Given the description of an element on the screen output the (x, y) to click on. 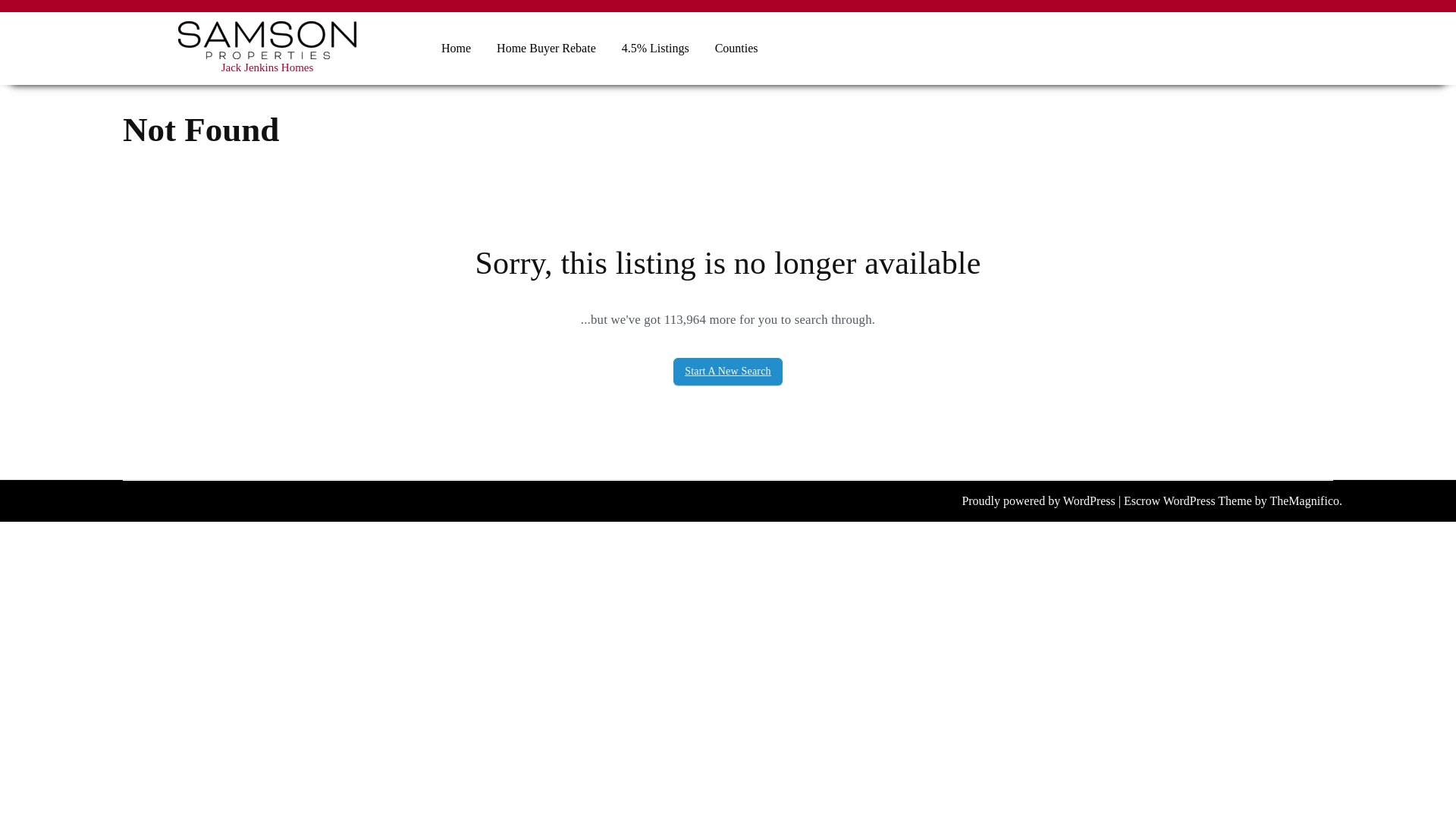
Counties (736, 47)
Start A New Search (727, 370)
Home Buyer Rebate (545, 47)
Home (455, 47)
Proudly powered by WordPress (1039, 500)
Escrow WordPress Theme (1189, 500)
